Given the description of an element on the screen output the (x, y) to click on. 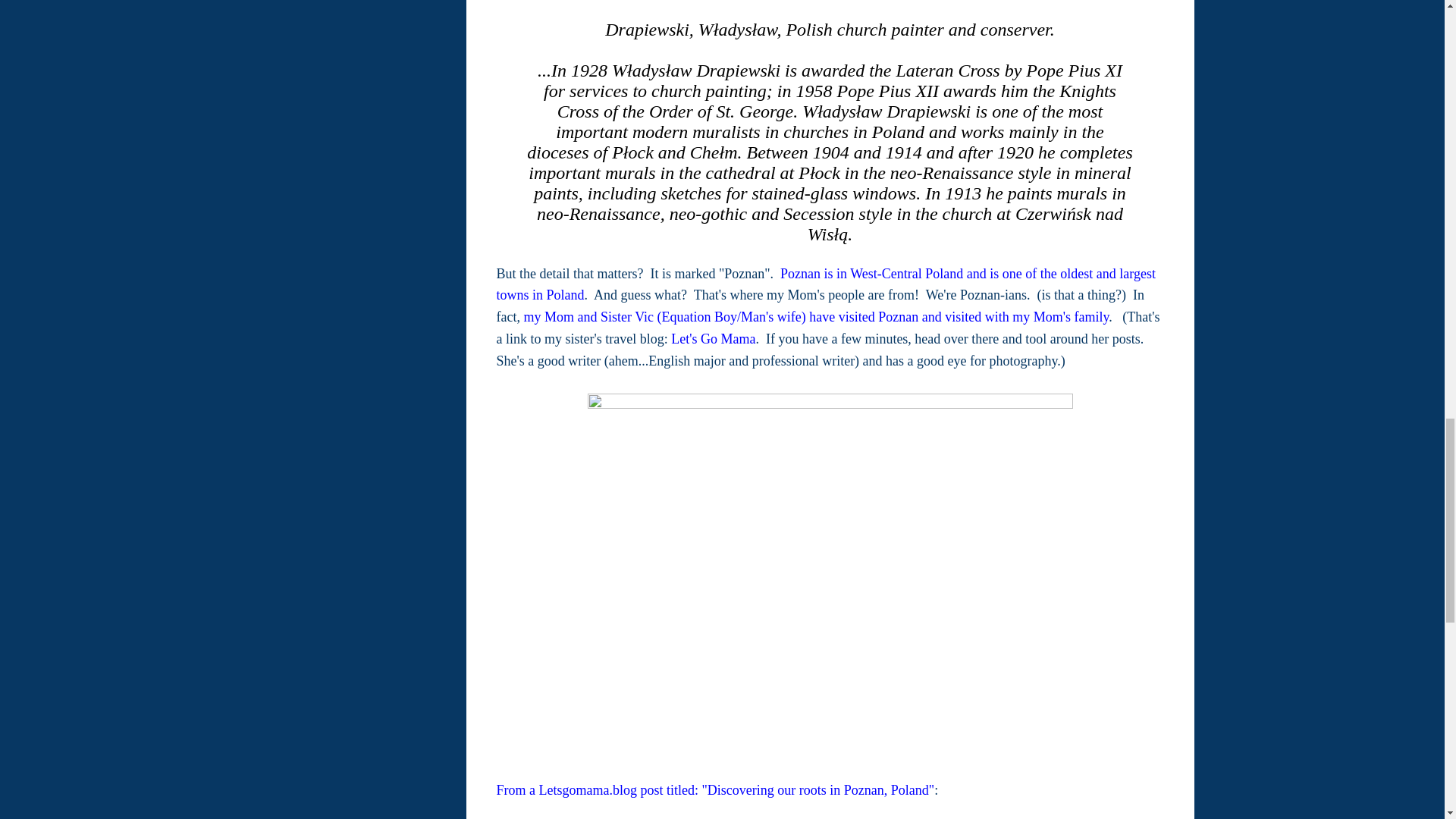
Let's Go Mama (713, 338)
